Given the description of an element on the screen output the (x, y) to click on. 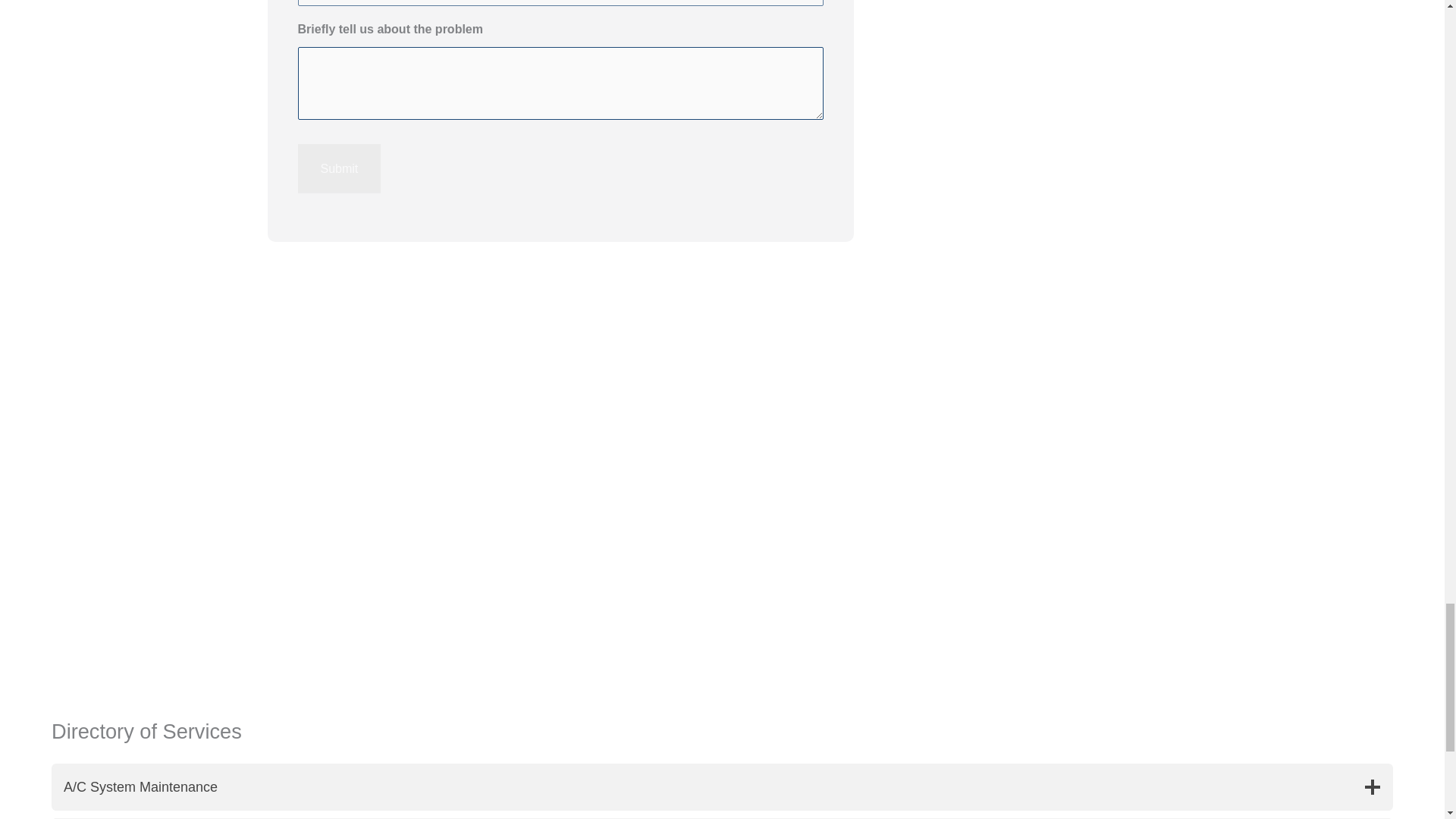
Submit (338, 169)
Submit (338, 169)
